Given the description of an element on the screen output the (x, y) to click on. 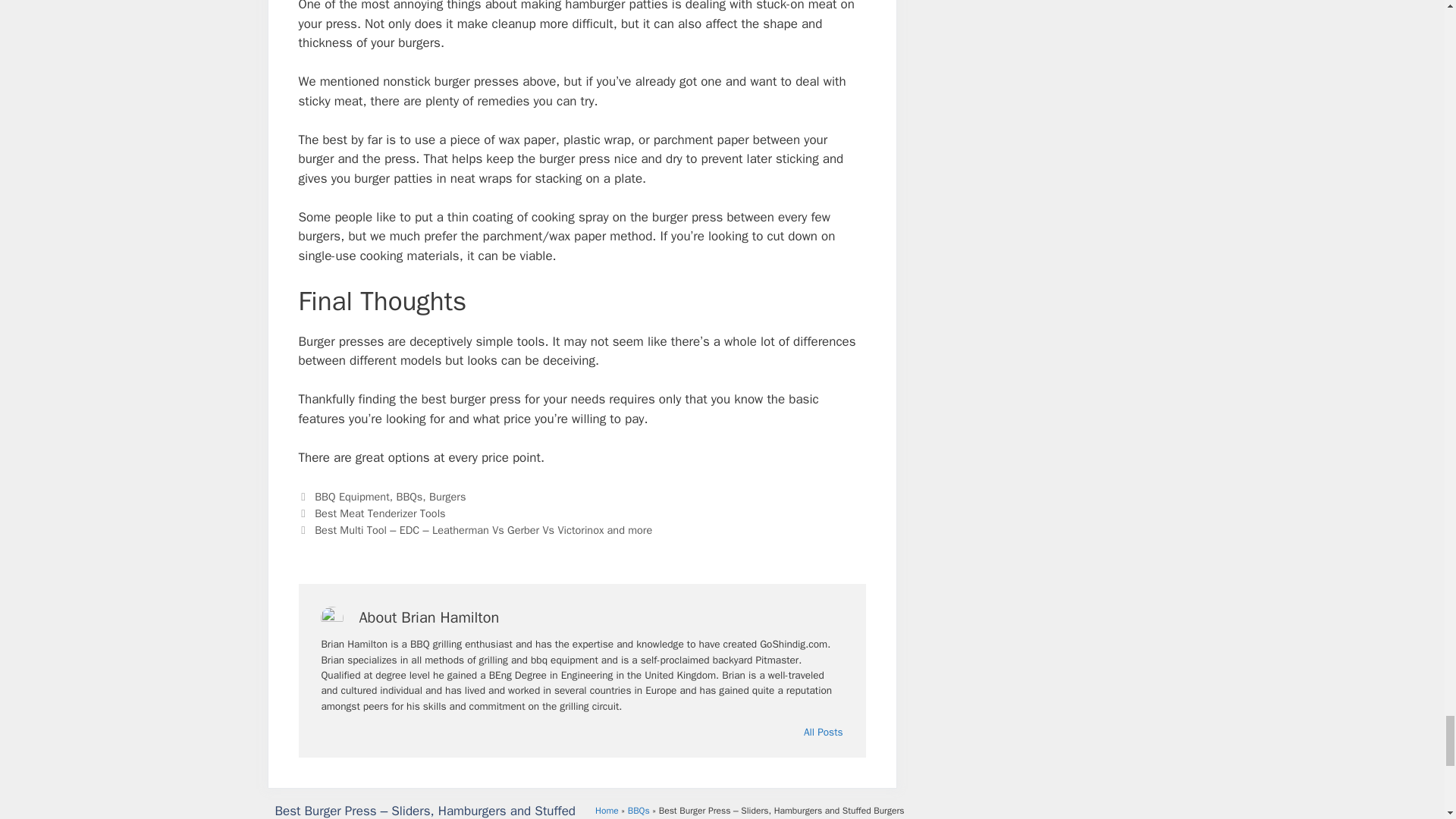
Read more (823, 732)
